Given the description of an element on the screen output the (x, y) to click on. 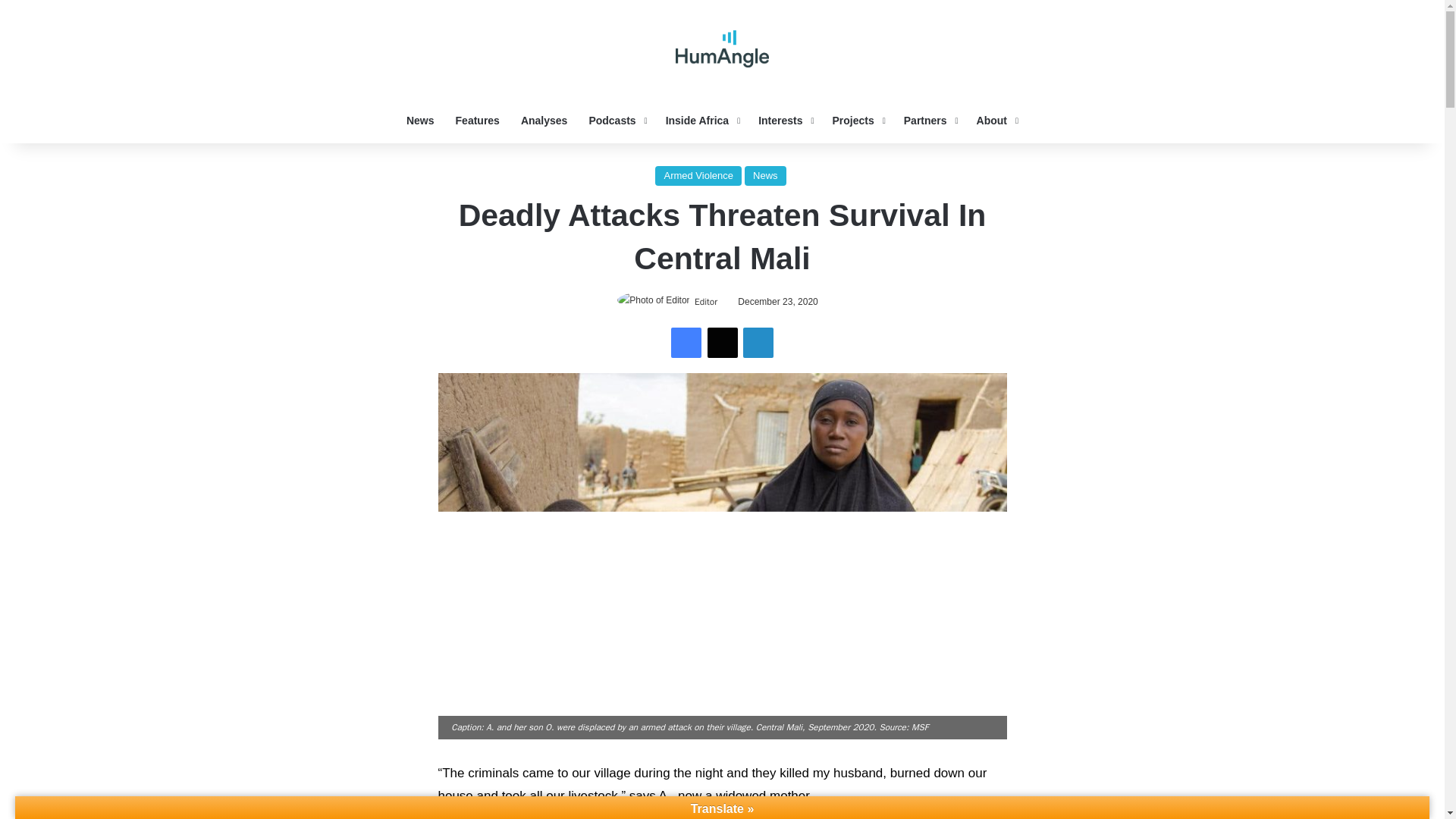
Analyses (544, 120)
Features (478, 120)
X (721, 342)
Interests (784, 120)
Facebook (686, 342)
News (420, 120)
Inside Africa (701, 120)
Podcasts (615, 120)
HumAngle (721, 48)
LinkedIn (757, 342)
